Given the description of an element on the screen output the (x, y) to click on. 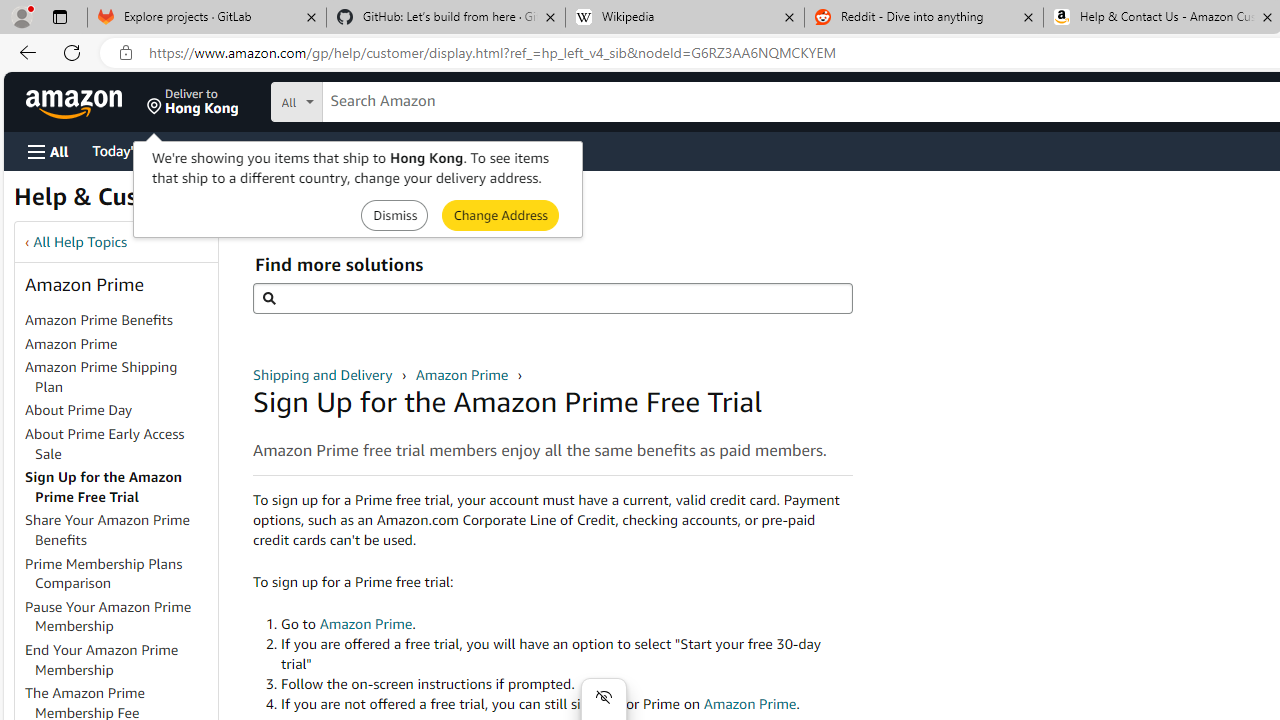
Registry (360, 150)
Amazon Prime Shipping Plan (120, 377)
About Prime Day (79, 410)
Follow the on-screen instructions if prompted. (566, 683)
About Prime Early Access Sale (105, 443)
Find more solutions (552, 297)
Shipping and Delivery  (324, 374)
Search in (371, 99)
Prime Membership Plans Comparison (104, 573)
Prime Membership Plans Comparison (120, 573)
